Given the description of an element on the screen output the (x, y) to click on. 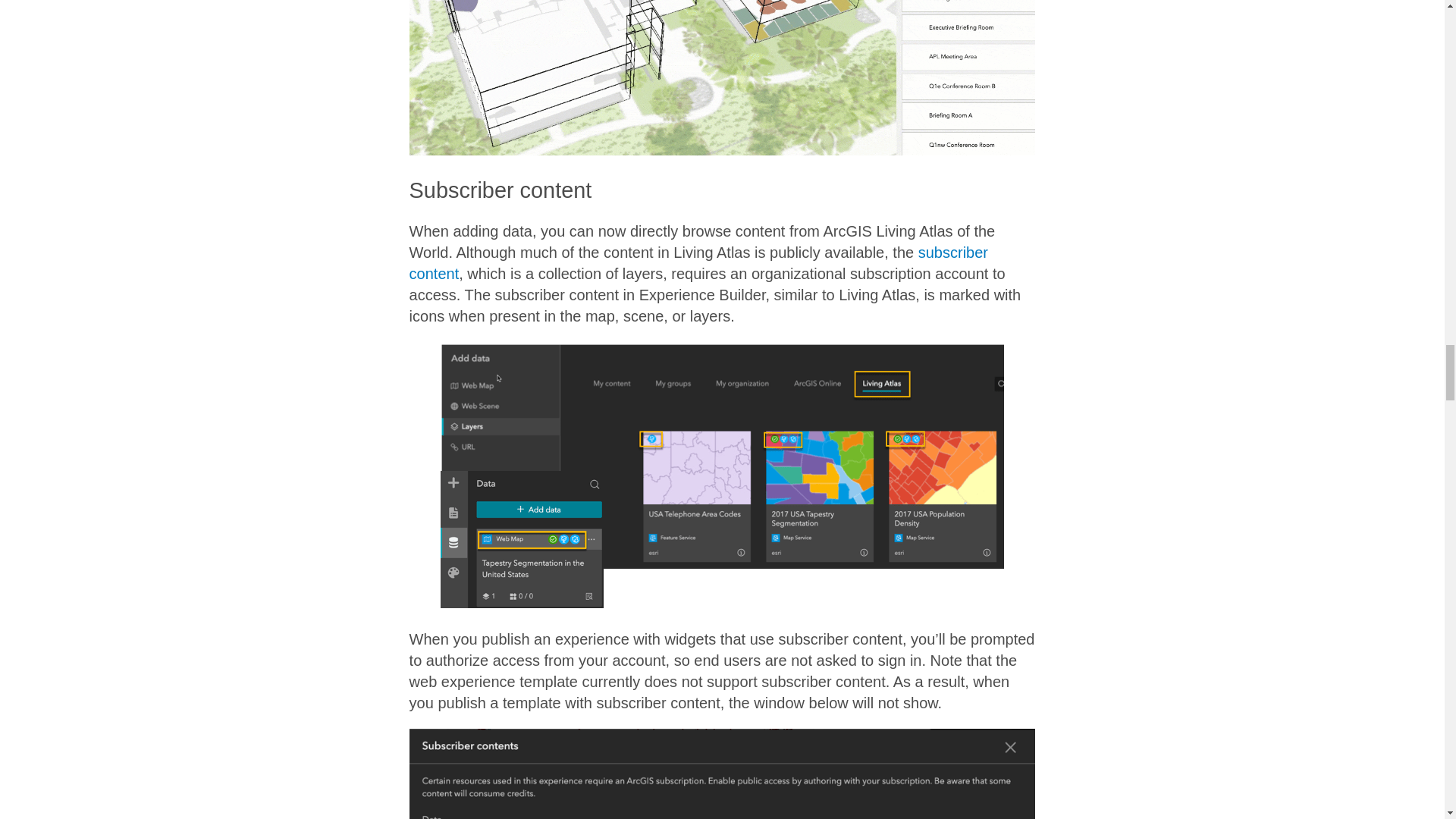
Subscriber content window (722, 773)
subscriber content (698, 262)
Filter and list a scene layer (722, 77)
